Given the description of an element on the screen output the (x, y) to click on. 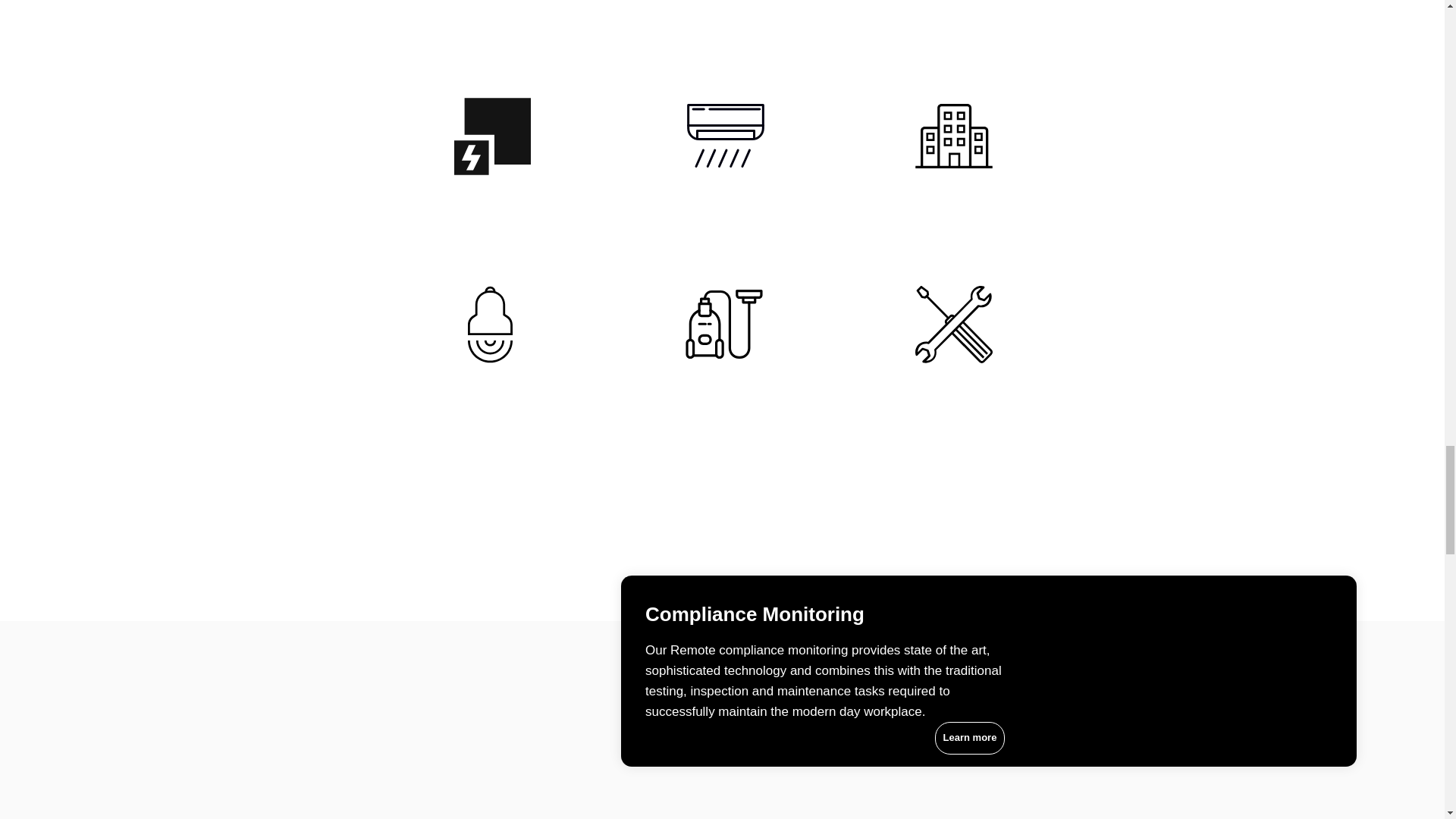
Learn more (969, 737)
